Given the description of an element on the screen output the (x, y) to click on. 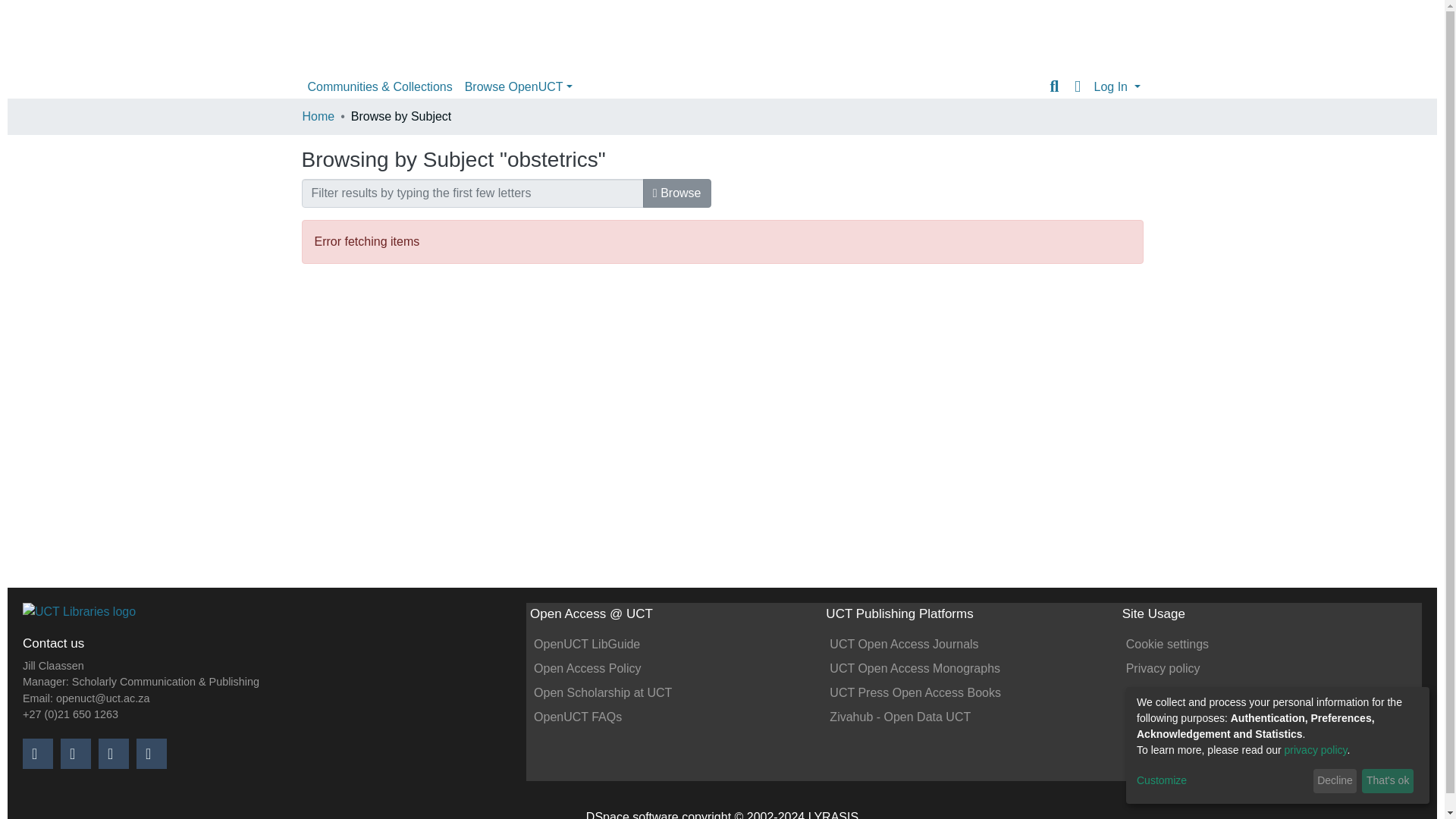
UCT Open Access Journals (903, 644)
Decline (1334, 781)
DSpace software (632, 814)
Search (1053, 86)
That's ok (1387, 781)
Zivahub - Open Data UCT (900, 716)
Browse OpenUCT (518, 87)
UCT Press Open Access Books (915, 692)
End User Agreement (1182, 692)
Send Feedback (1168, 716)
OpenUCT LibGuide (587, 644)
Home (317, 116)
Privacy policy (1162, 667)
LYRASIS (833, 814)
UCT Open Access Monographs (914, 667)
